Given the description of an element on the screen output the (x, y) to click on. 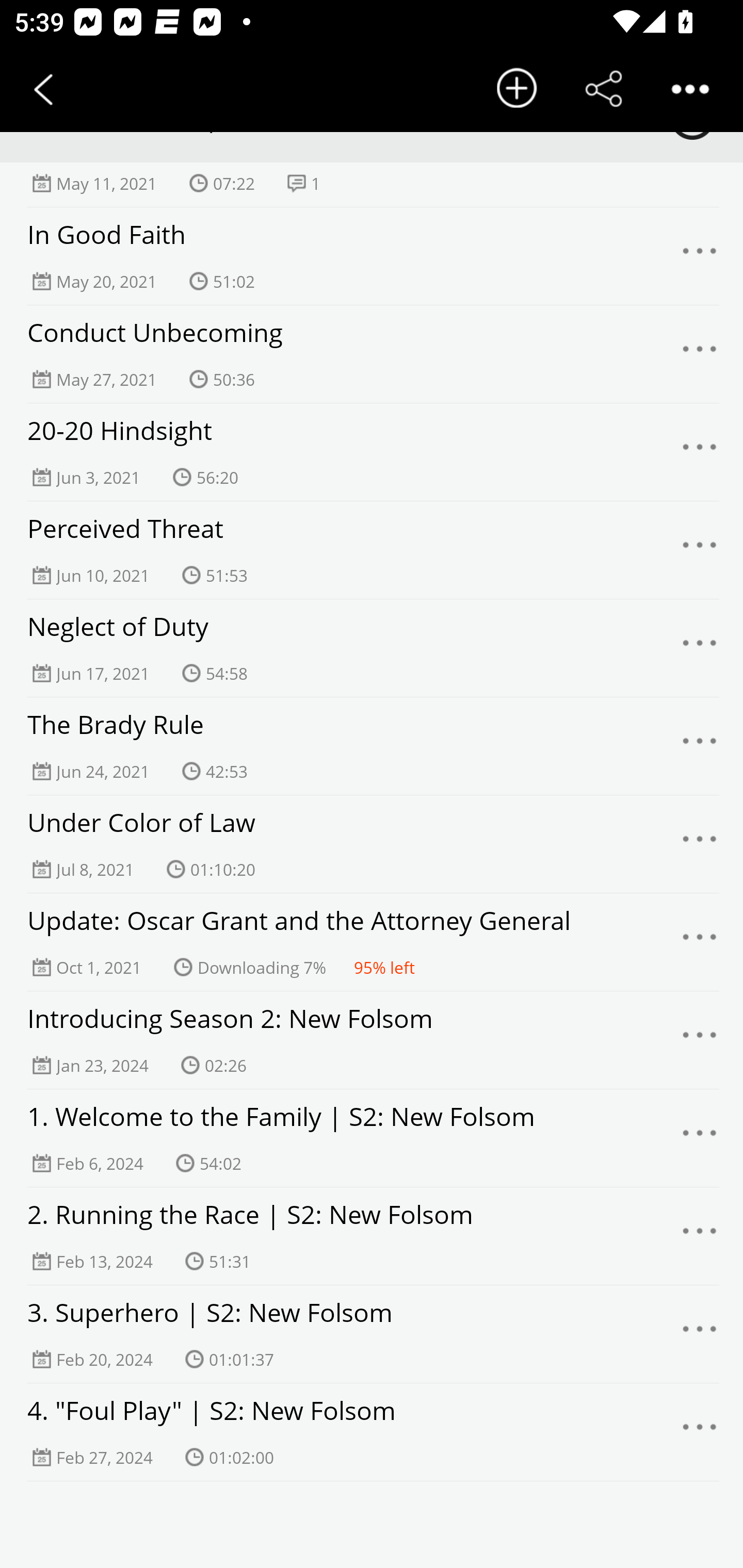
Back (43, 88)
In Good Faith May 20, 2021 51:02 Menu (371, 255)
Menu (699, 256)
Conduct Unbecoming May 27, 2021 50:36 Menu (371, 353)
Menu (699, 354)
20-20 Hindsight Jun 3, 2021 56:20 Menu (371, 451)
Menu (699, 452)
Perceived Threat Jun 10, 2021 51:53 Menu (371, 549)
Menu (699, 550)
Neglect of Duty Jun 17, 2021 54:58 Menu (371, 647)
Menu (699, 648)
The Brady Rule Jun 24, 2021 42:53 Menu (371, 745)
Menu (699, 746)
Under Color of Law Jul 8, 2021 01:10:20 Menu (371, 843)
Menu (699, 844)
Menu (699, 942)
Menu (699, 1040)
Menu (699, 1138)
Menu (699, 1236)
Menu (699, 1334)
Menu (699, 1432)
